Given the description of an element on the screen output the (x, y) to click on. 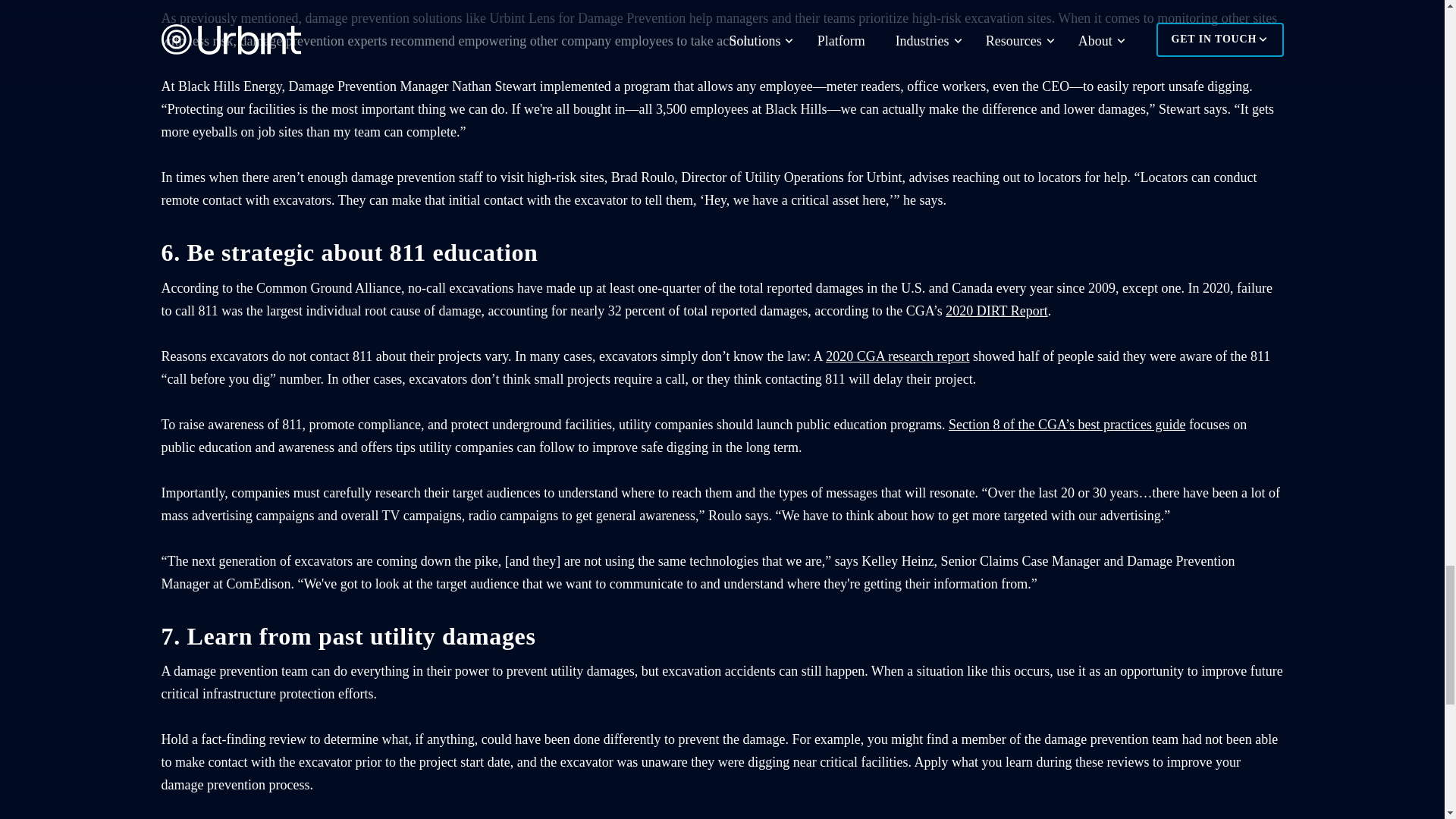
2020 DIRT Report (996, 310)
2020 CGA research report (897, 355)
